Given the description of an element on the screen output the (x, y) to click on. 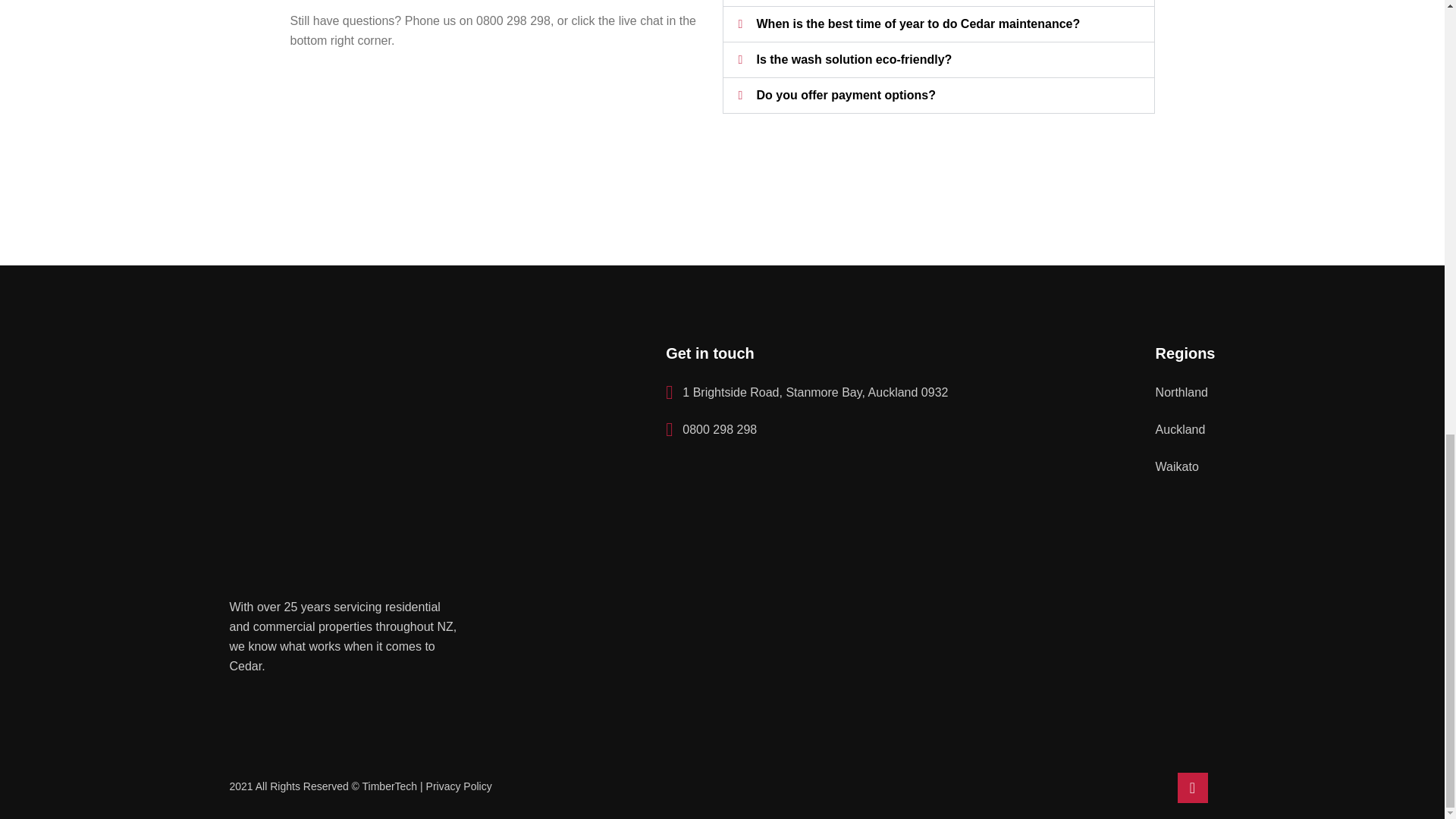
Do you offer payment options? (846, 94)
Auckland (1180, 429)
0800 298 298 (711, 429)
Is the wash solution eco-friendly? (854, 59)
1 Brightside Road, Stanmore Bay, Auckland 0932 (806, 392)
Northland (1182, 392)
When is the best time of year to do Cedar maintenance? (918, 23)
